Given the description of an element on the screen output the (x, y) to click on. 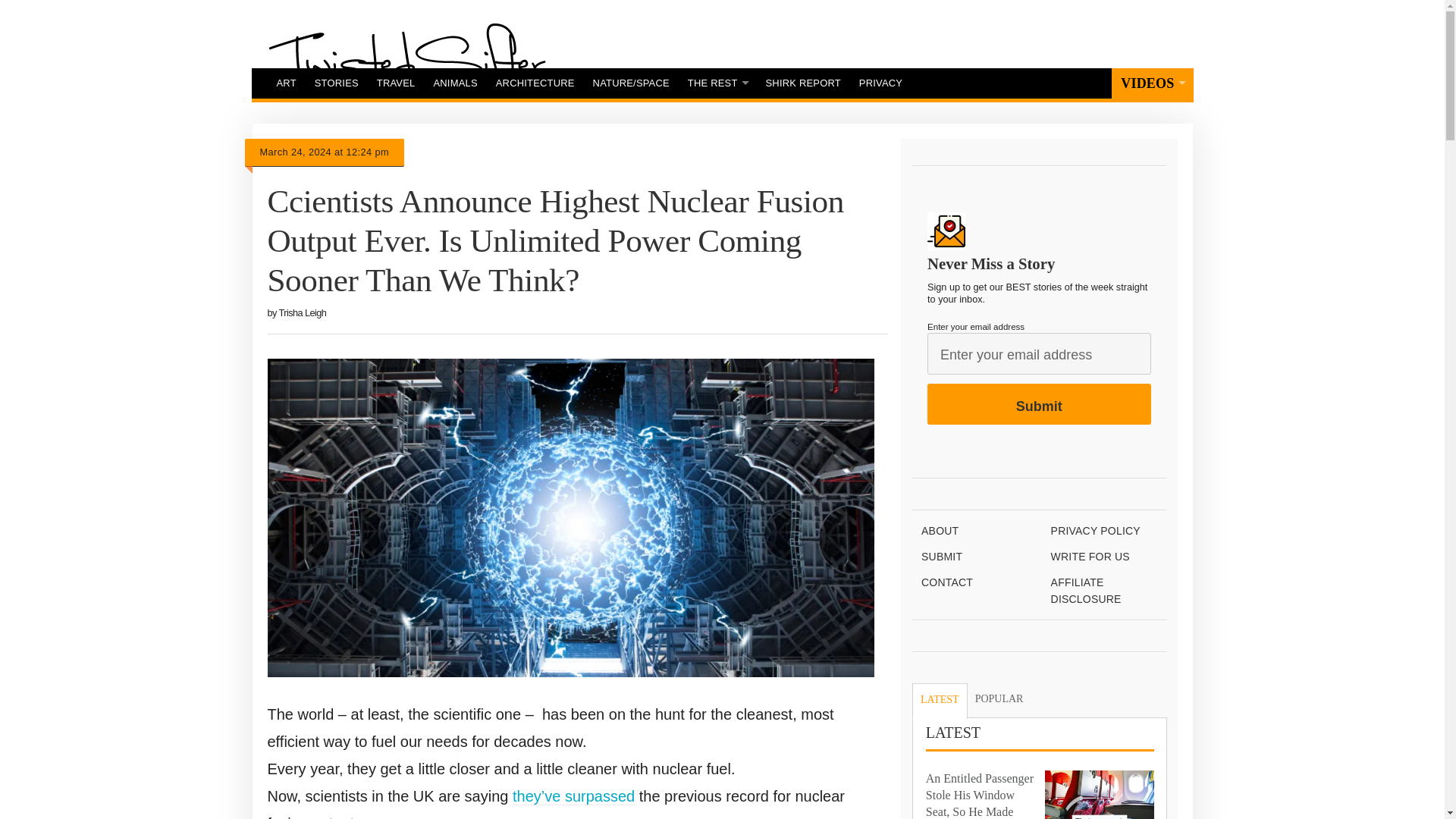
PRIVACY (880, 82)
ANIMALS (454, 82)
STORIES (336, 82)
SHIRK REPORT (803, 82)
ART (285, 82)
Home (406, 59)
ARCHITECTURE (534, 82)
VIDEOS (1152, 82)
Submit (1038, 404)
